Given the description of an element on the screen output the (x, y) to click on. 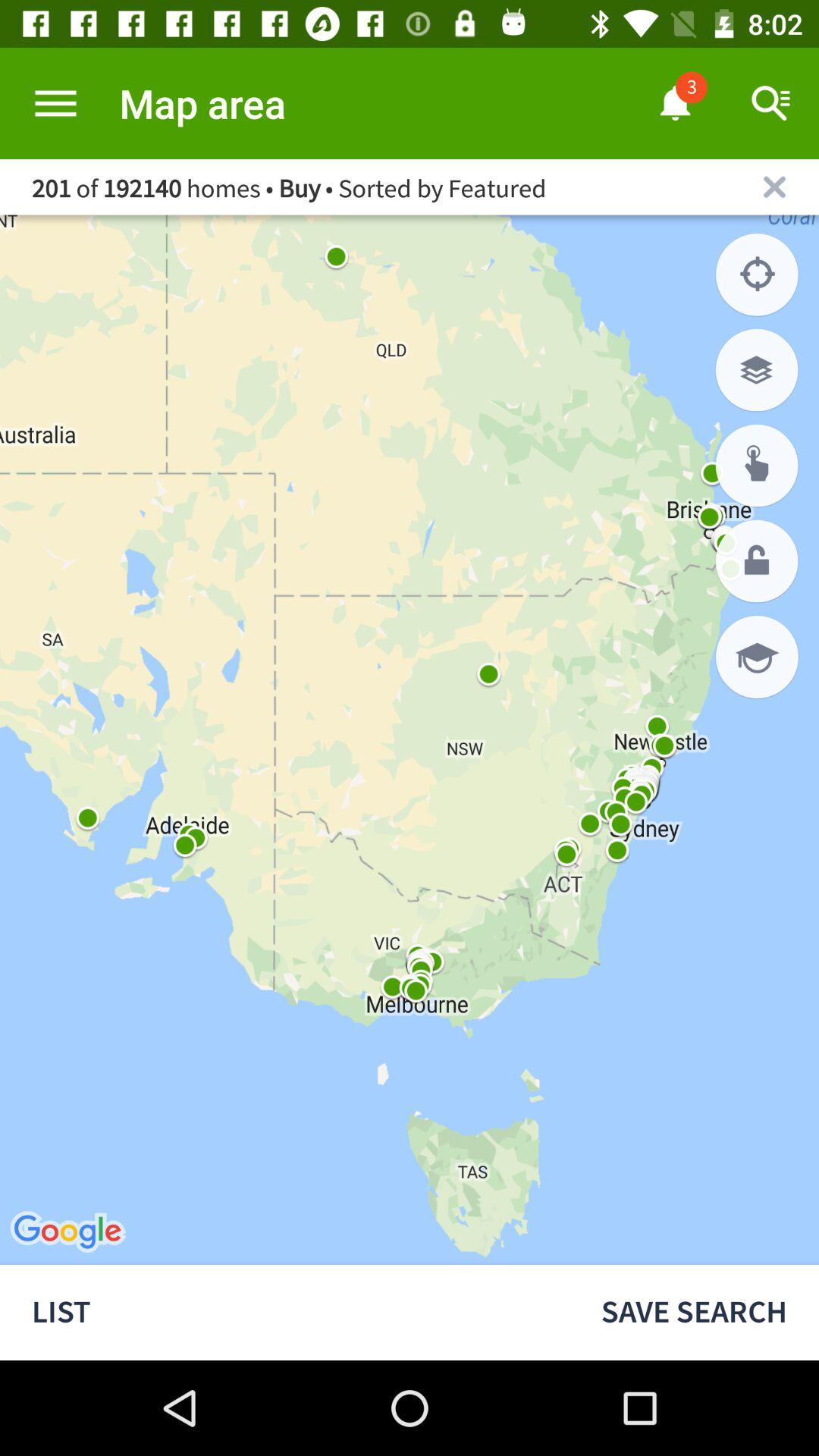
not secured (756, 561)
